Given the description of an element on the screen output the (x, y) to click on. 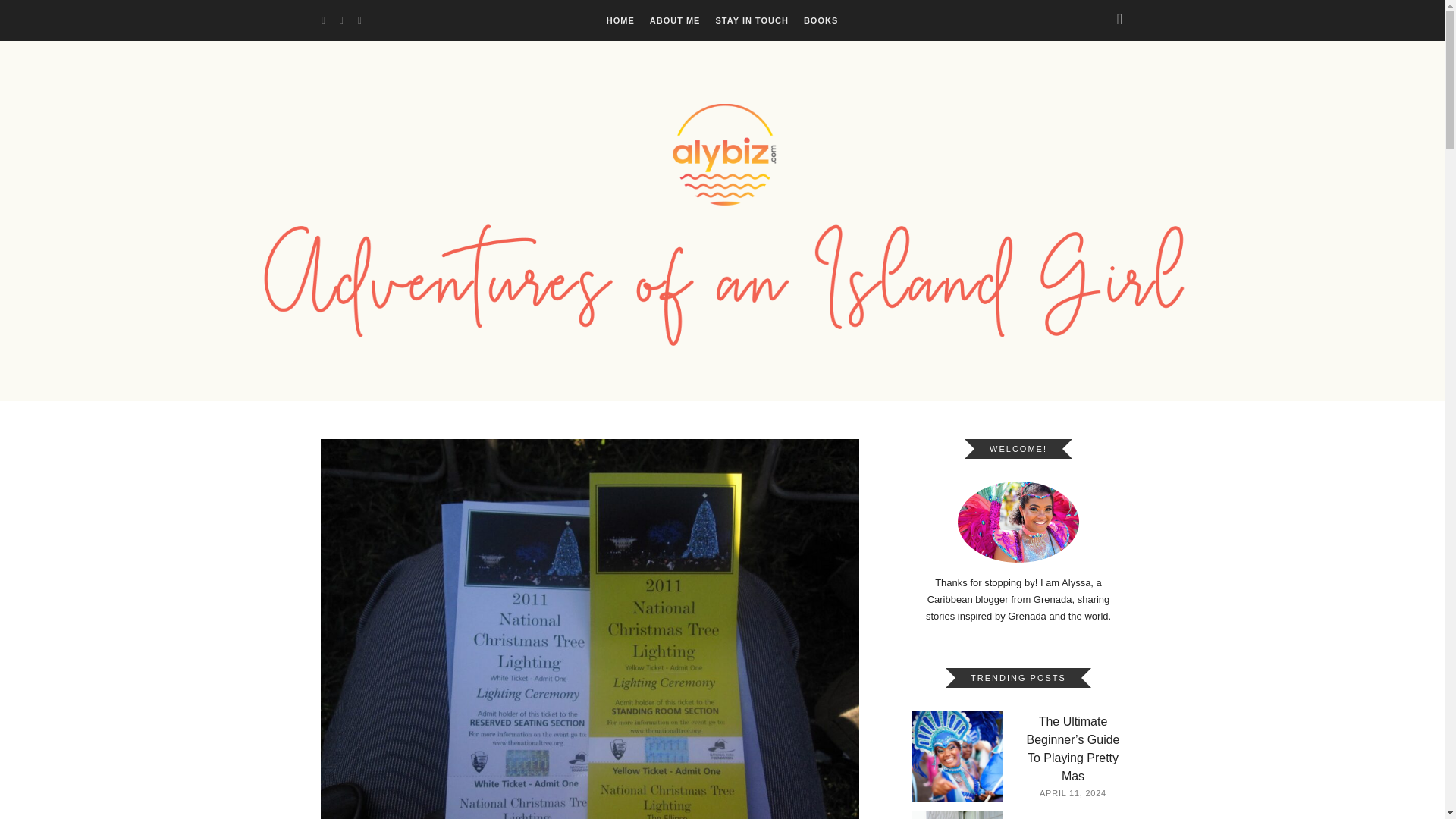
ABOUT ME (674, 20)
STAY IN TOUCH (752, 20)
Search (40, 17)
Adventures of an Island Girl (722, 214)
A Day At Coyaba Beach Resort (957, 815)
The Ultimate Beginner's Guide To Playing Pretty Mas (957, 755)
